Given the description of an element on the screen output the (x, y) to click on. 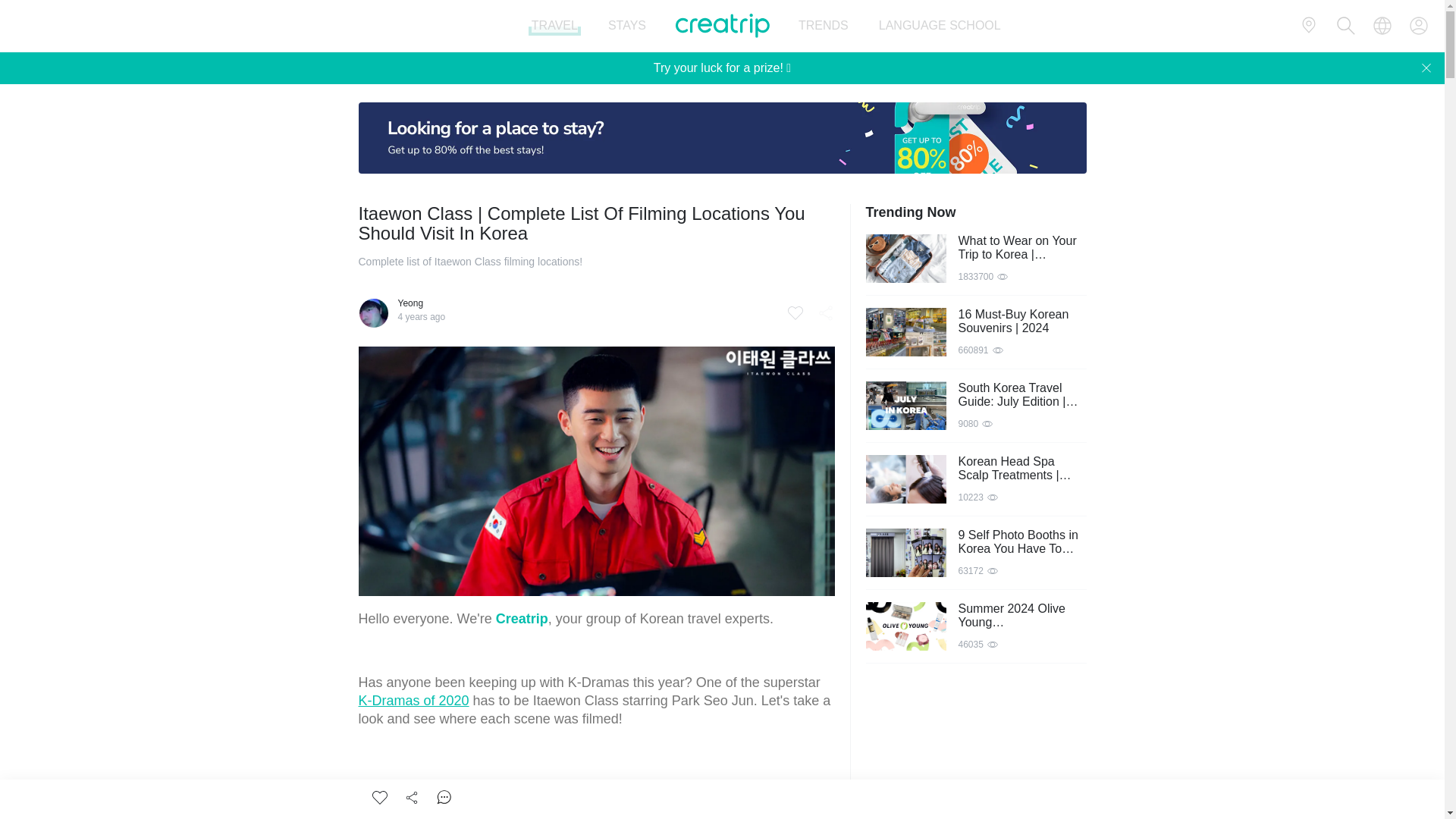
LikeButton (794, 312)
STAYS (627, 25)
LANGUAGE SCHOOL (940, 25)
TRAVEL (554, 25)
LikeButton (378, 797)
K-Dramas of 2020 (413, 700)
TRENDS (822, 25)
